Given the description of an element on the screen output the (x, y) to click on. 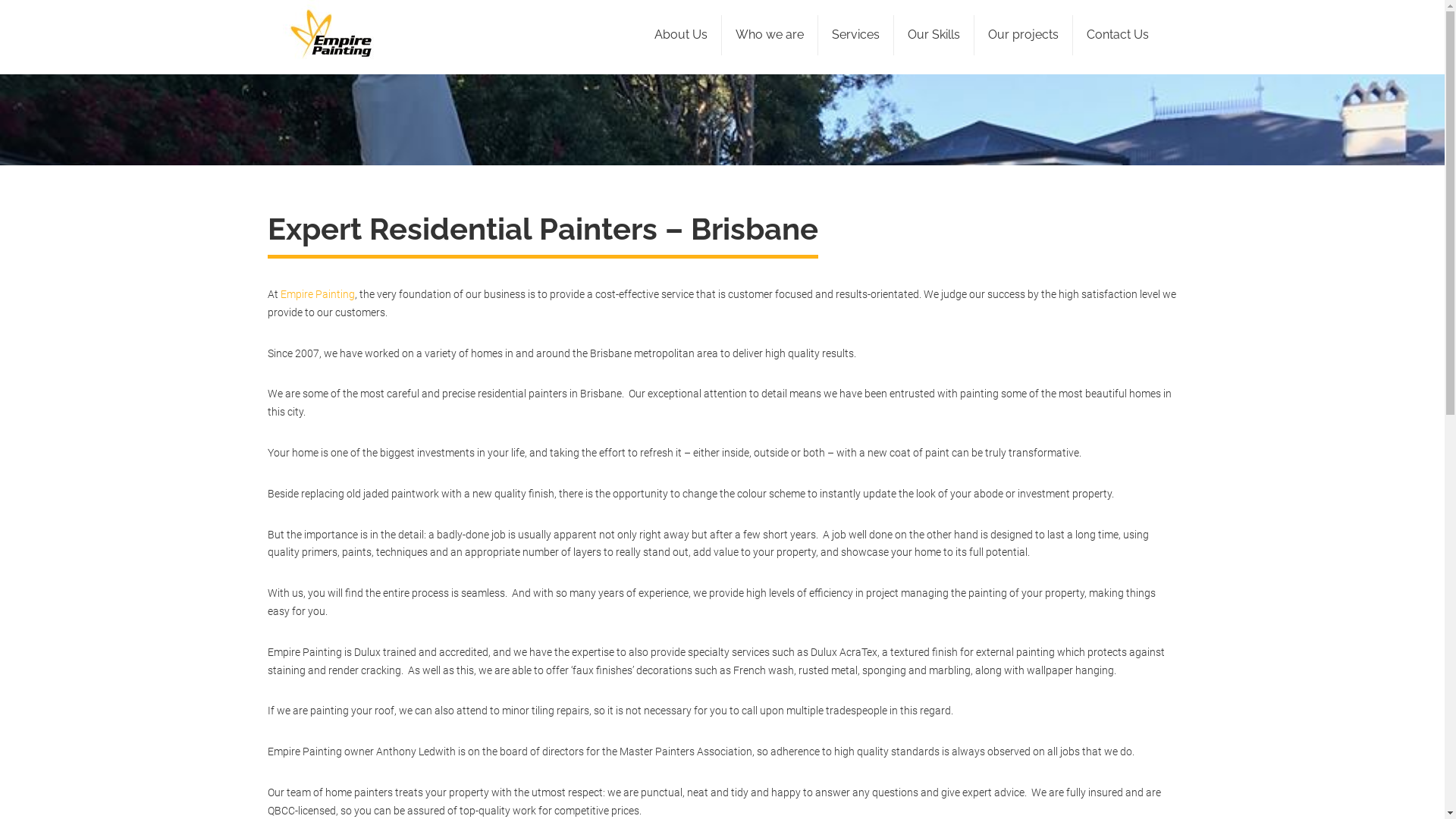
Our Skills Element type: text (932, 35)
Who we are Element type: text (769, 35)
About Us Element type: text (680, 35)
Services Element type: text (854, 35)
Our projects Element type: text (1022, 35)
Empire Painting Element type: text (317, 294)
Contact Us Element type: text (1116, 35)
